Given the description of an element on the screen output the (x, y) to click on. 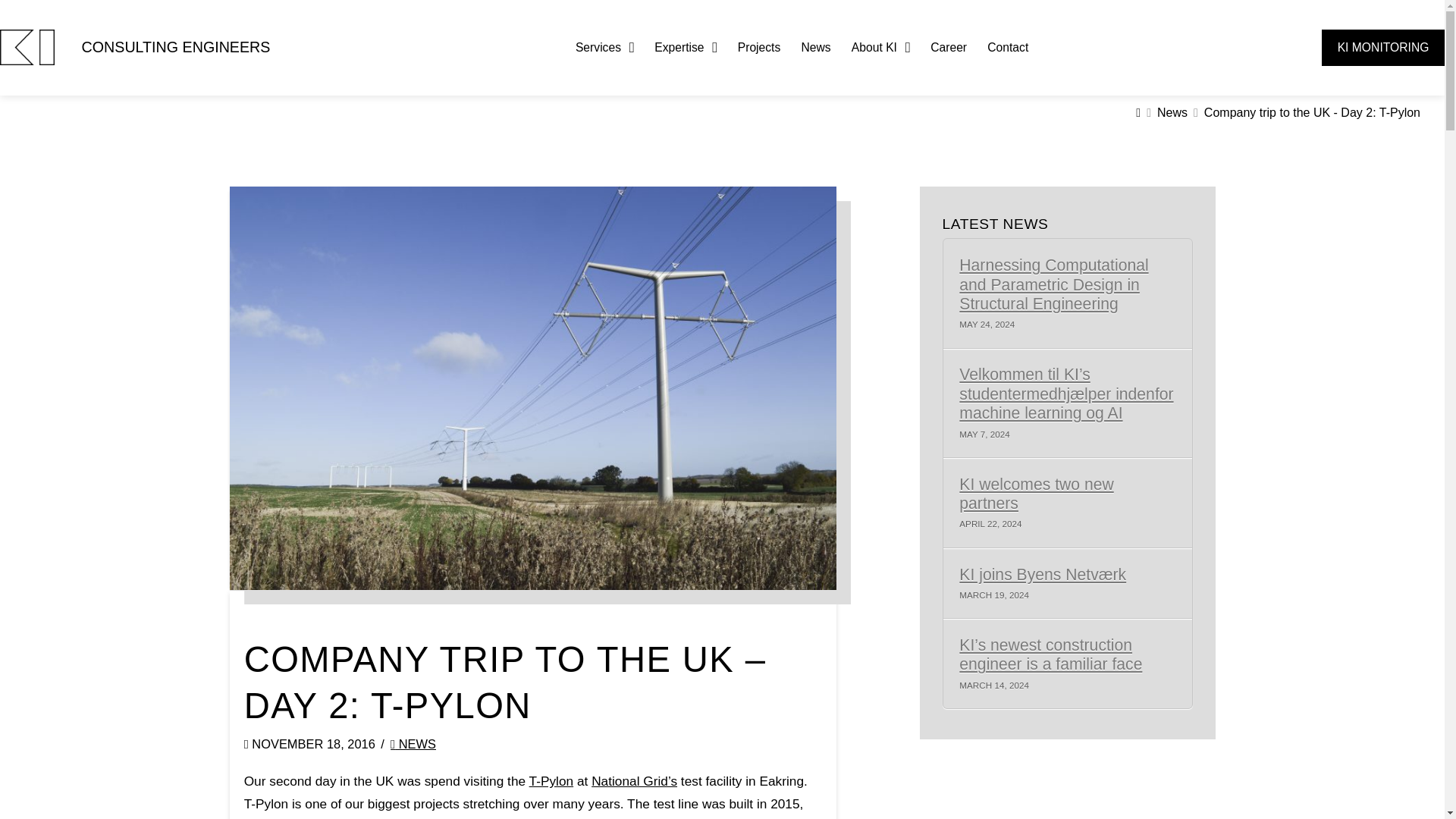
NEWS (412, 744)
KI welcomes two new partners (1066, 494)
You Are Here (1312, 113)
CONSULTING ENGINEERS (175, 46)
Company trip to the UK - Day 2: T-Pylon (1312, 113)
News (1172, 113)
T-Pylon (551, 780)
